Given the description of an element on the screen output the (x, y) to click on. 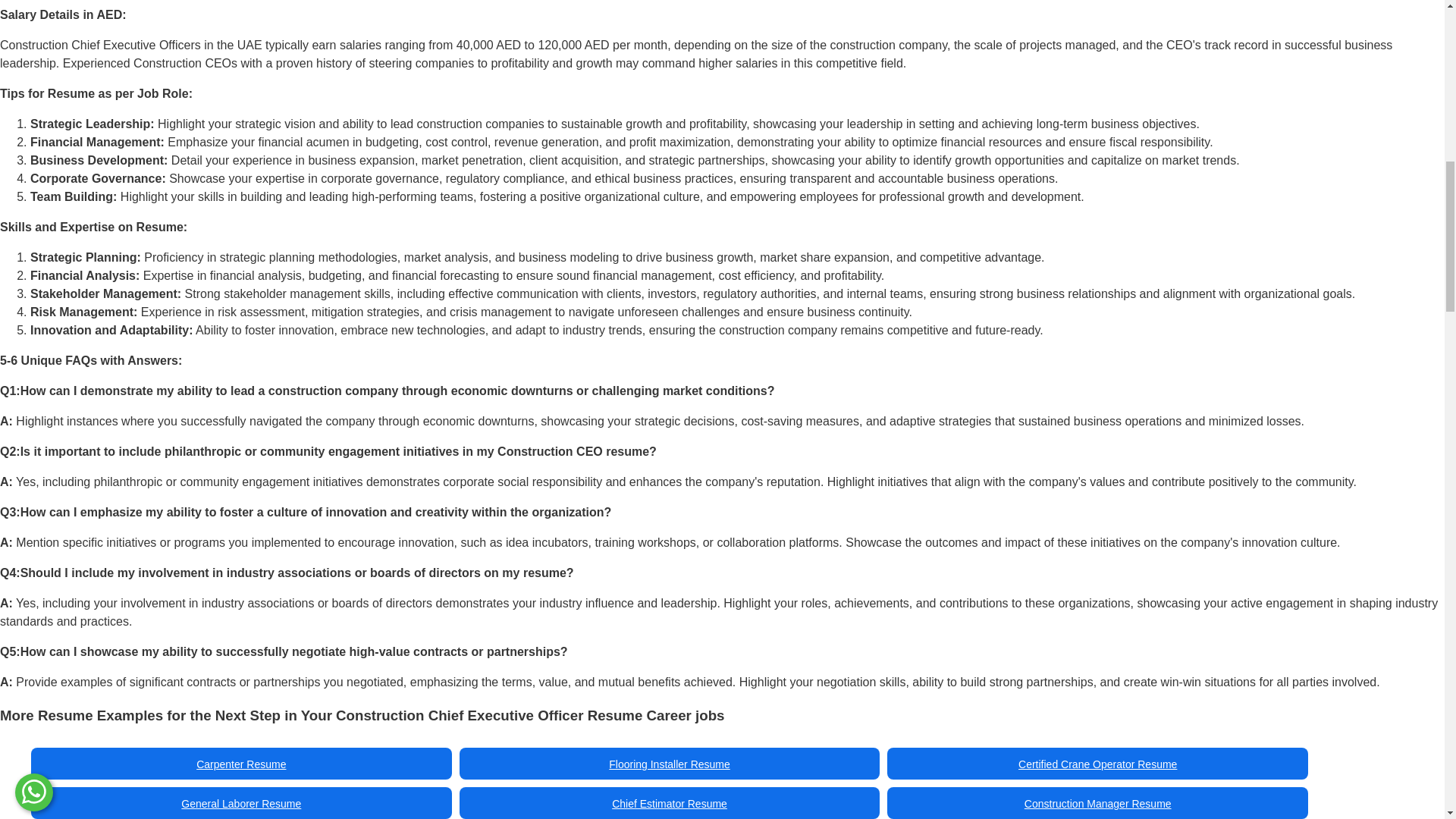
Construction Manager Resume (1098, 803)
Chief Estimator Resume (668, 803)
Carpenter Resume (240, 764)
Flooring Installer Resume (669, 764)
General Laborer Resume (240, 803)
click to open whatsapp chat (33, 5)
Certified Crane Operator Resume (1096, 764)
